Given the description of an element on the screen output the (x, y) to click on. 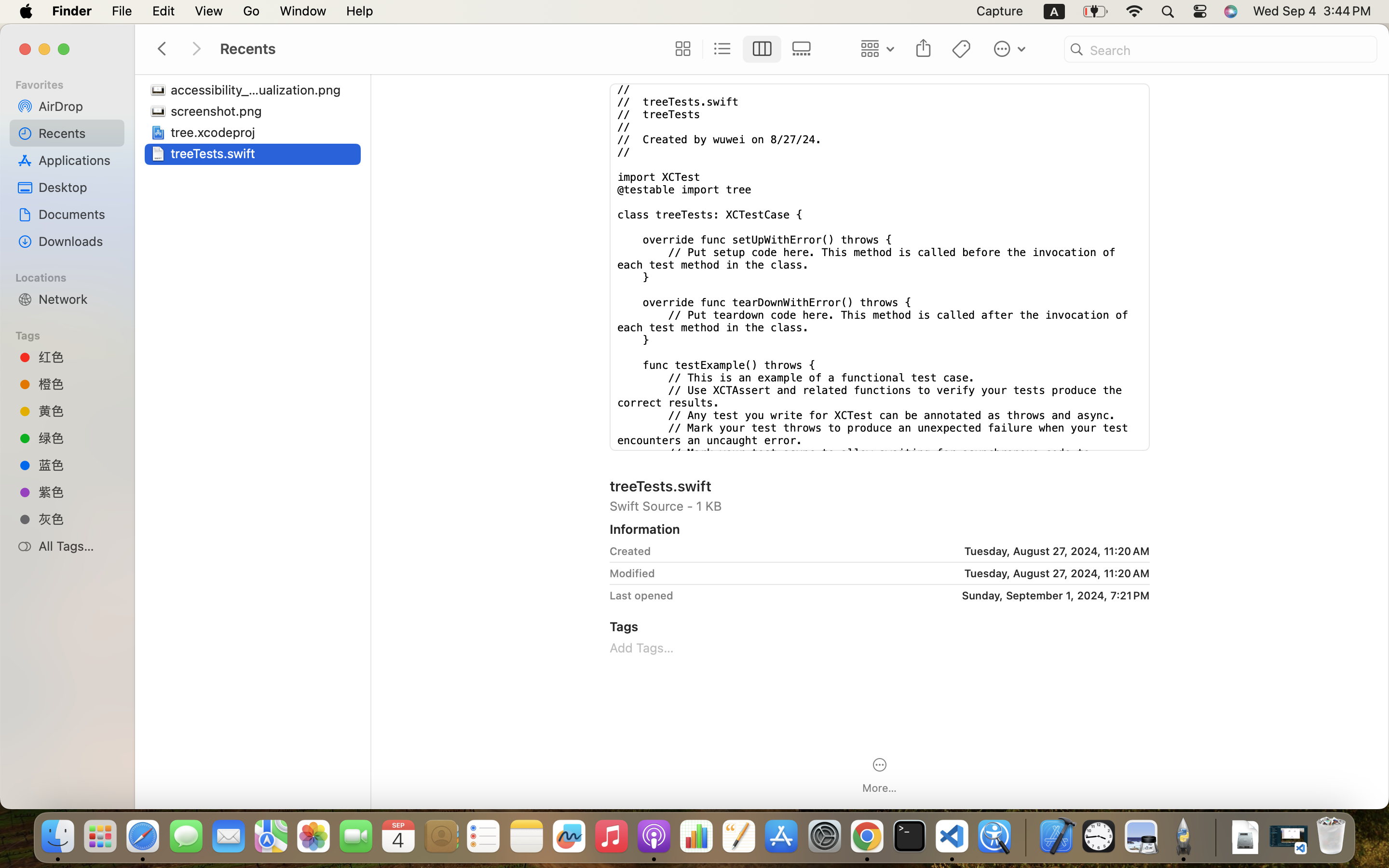
tree.xcodeproj Element type: AXTextField (214, 131)
Network Element type: AXStaticText (77, 298)
treeTests.swift Element type: AXTextField (214, 153)
Locations Element type: AXStaticText (72, 276)
紫色 Element type: AXStaticText (77, 491)
